Given the description of an element on the screen output the (x, y) to click on. 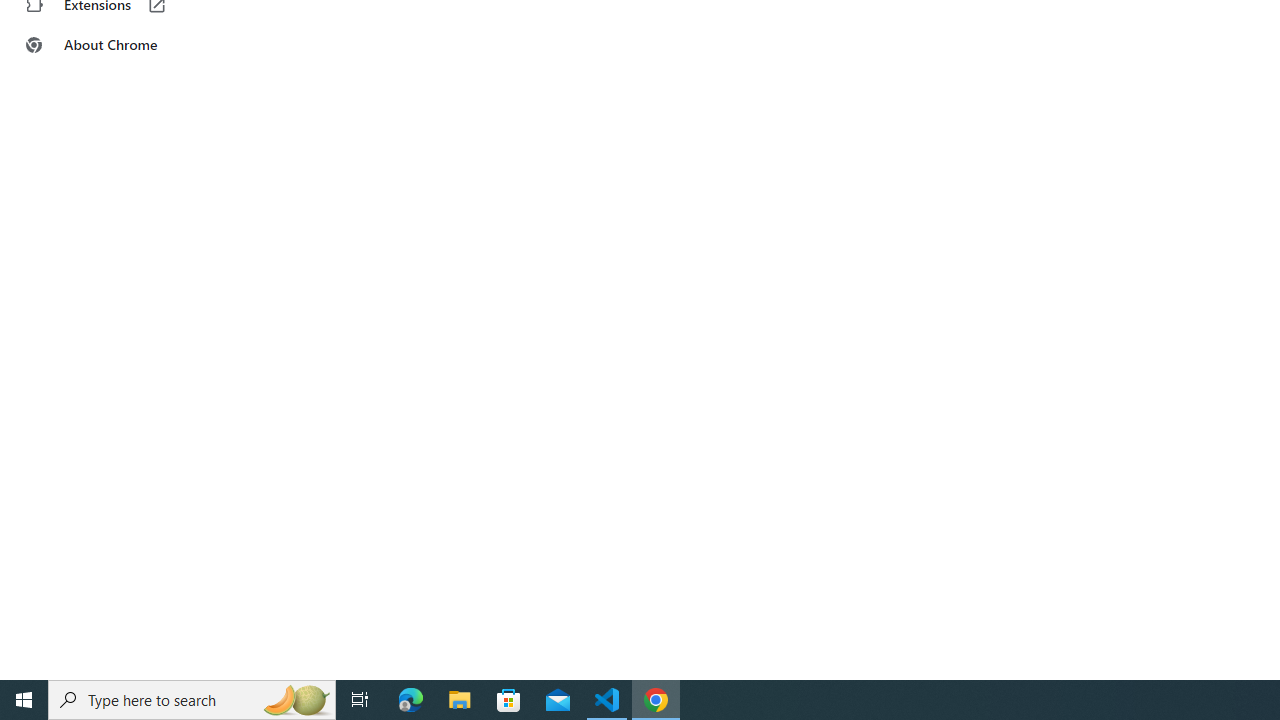
Microsoft Store (509, 699)
Start (24, 699)
Google Chrome - 1 running window (656, 699)
About Chrome (124, 44)
Microsoft Edge (411, 699)
Task View (359, 699)
Type here to search (191, 699)
Visual Studio Code - 1 running window (607, 699)
Search highlights icon opens search home window (295, 699)
File Explorer (460, 699)
